Given the description of an element on the screen output the (x, y) to click on. 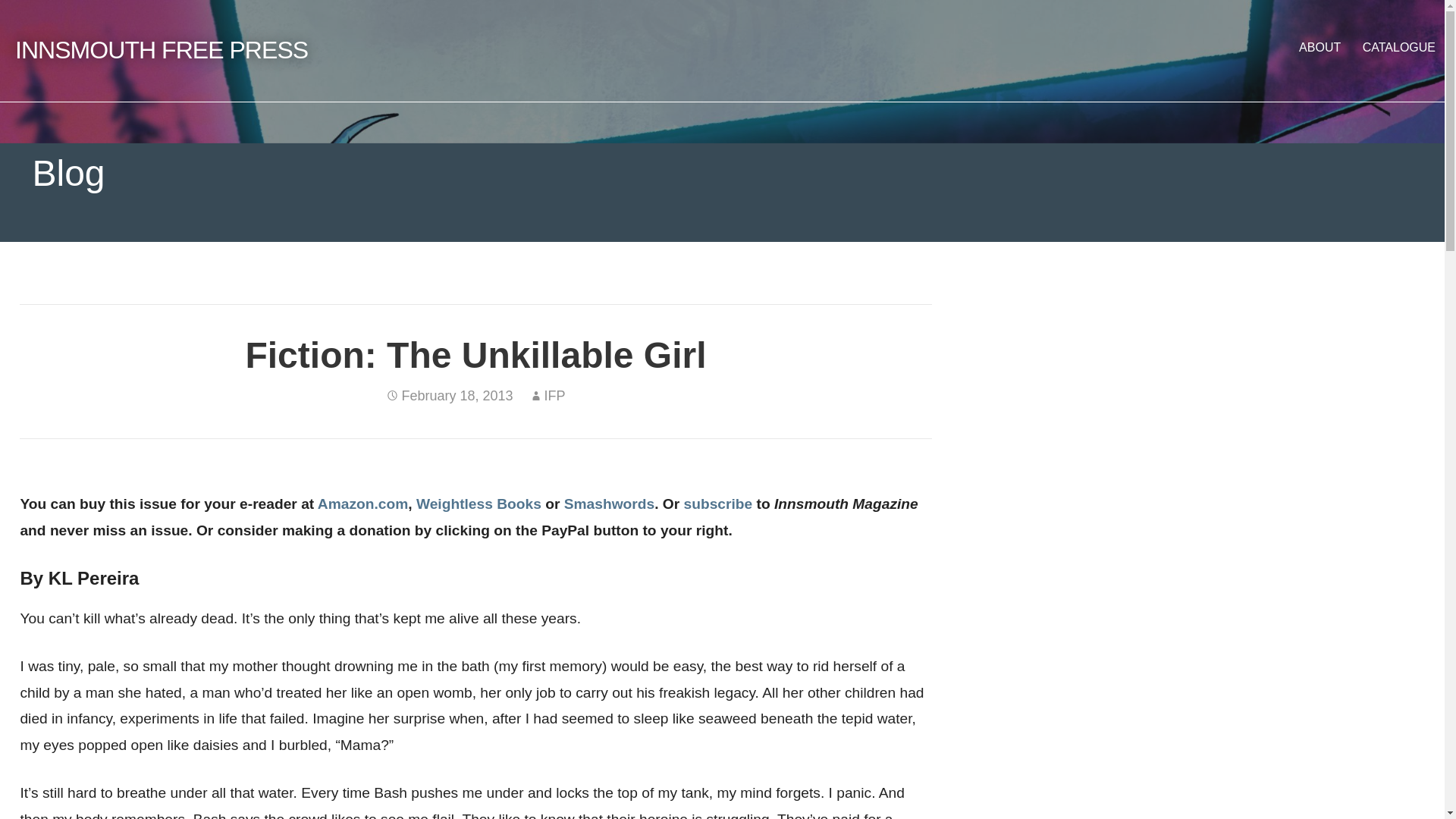
INNSMOUTH FREE PRESS (160, 49)
Smashwords (608, 503)
Posts by IFP (555, 395)
Amazon.com (362, 503)
subscribe (718, 503)
ABOUT (1319, 47)
IFP (555, 395)
Weightless Books (478, 503)
